Given the description of an element on the screen output the (x, y) to click on. 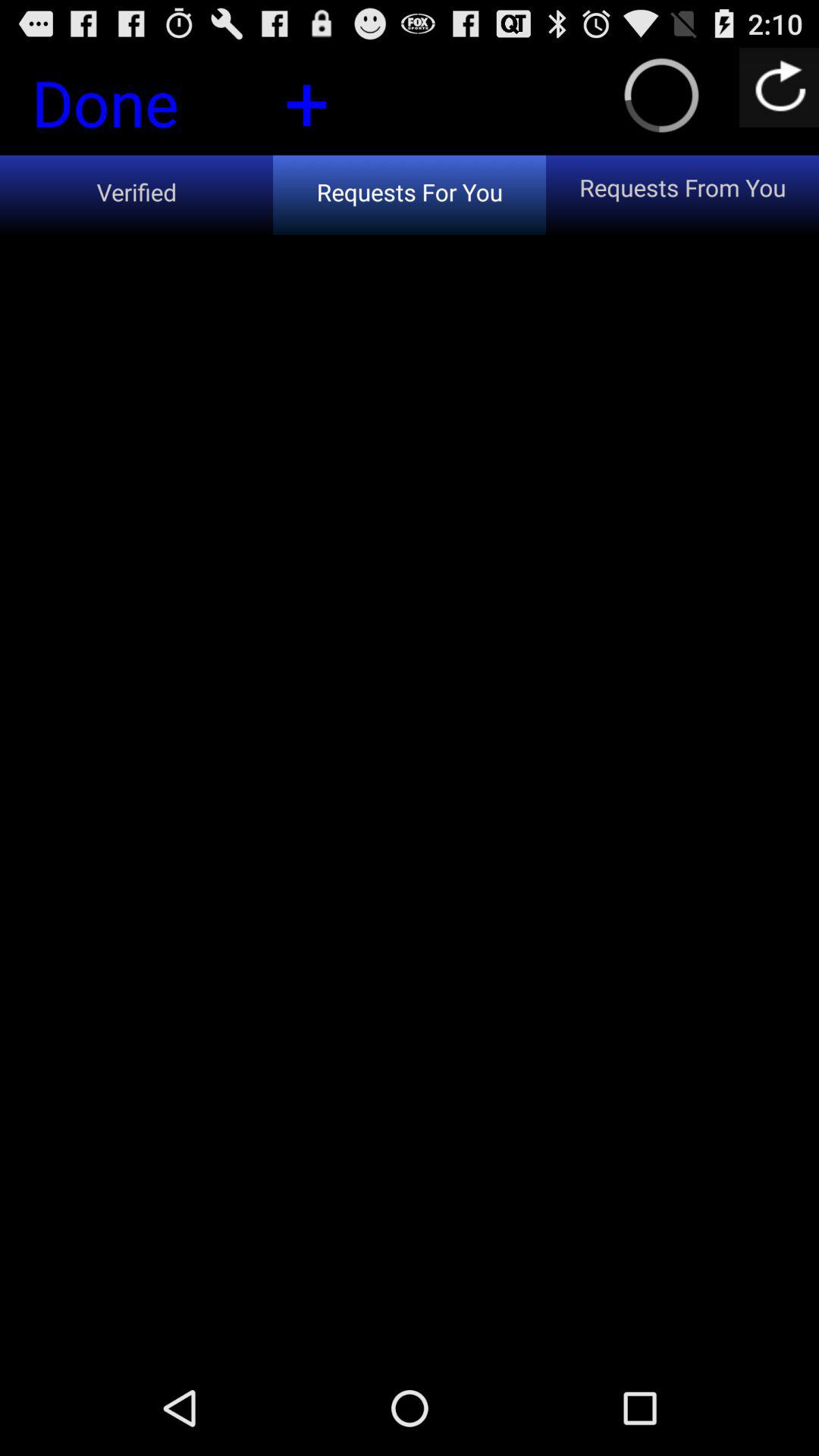
swipe until verified item (136, 194)
